Given the description of an element on the screen output the (x, y) to click on. 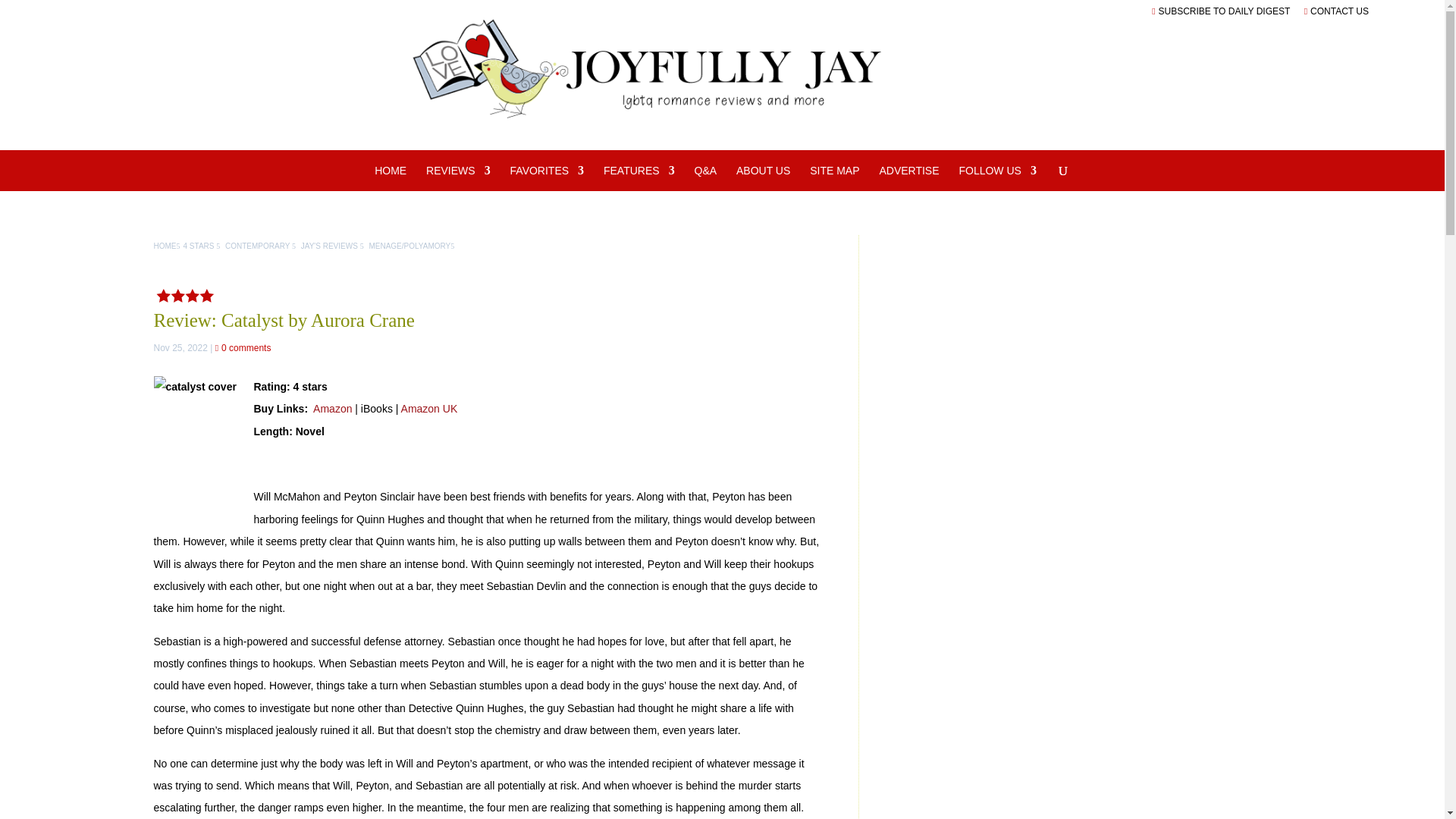
SUBSCRIBE TO DAILY DIGEST (1220, 10)
CONTACT US (1336, 10)
HOME (390, 177)
REVIEWS (458, 177)
